Given the description of an element on the screen output the (x, y) to click on. 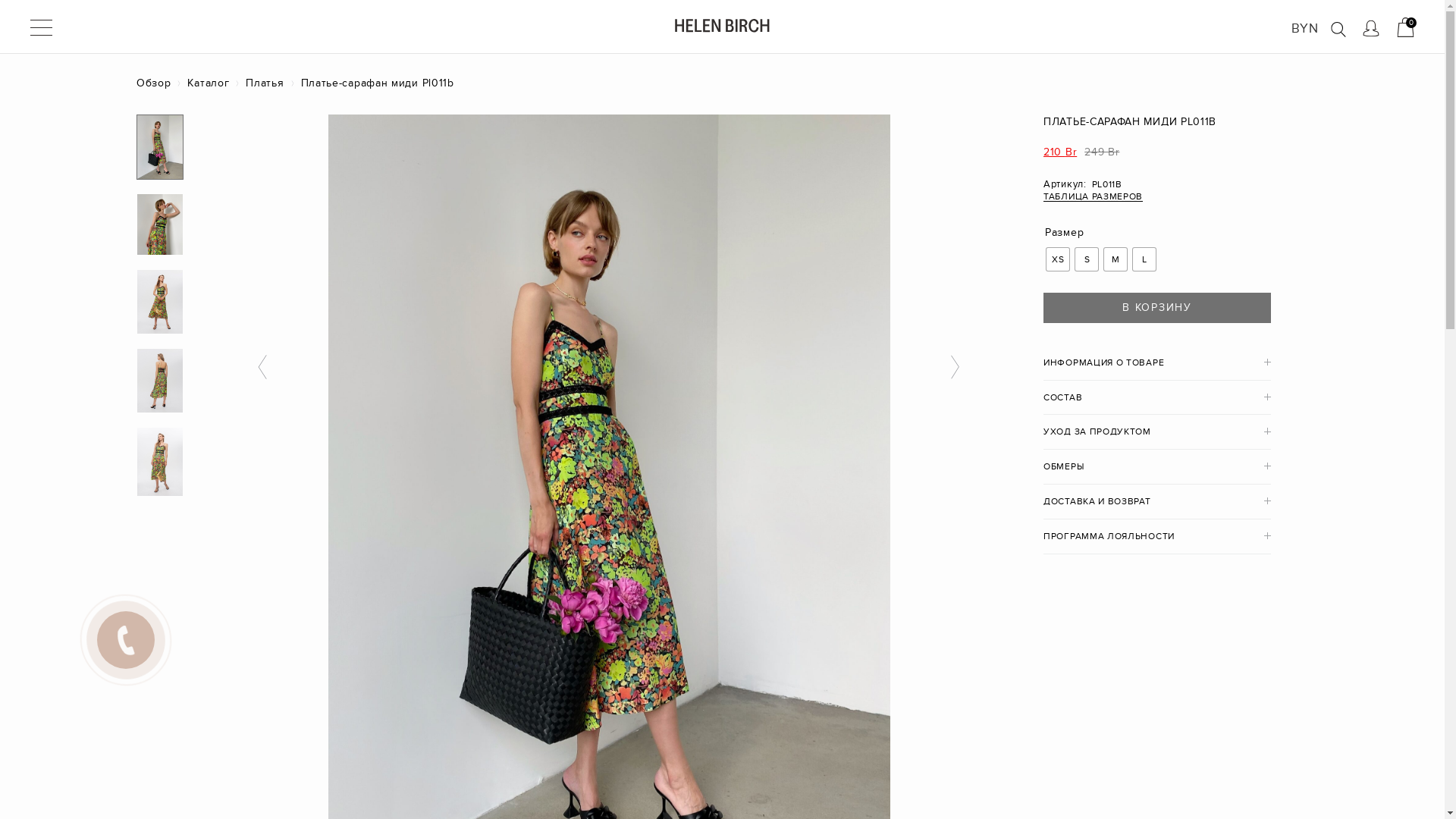
0 Element type: text (1405, 27)
